Given the description of an element on the screen output the (x, y) to click on. 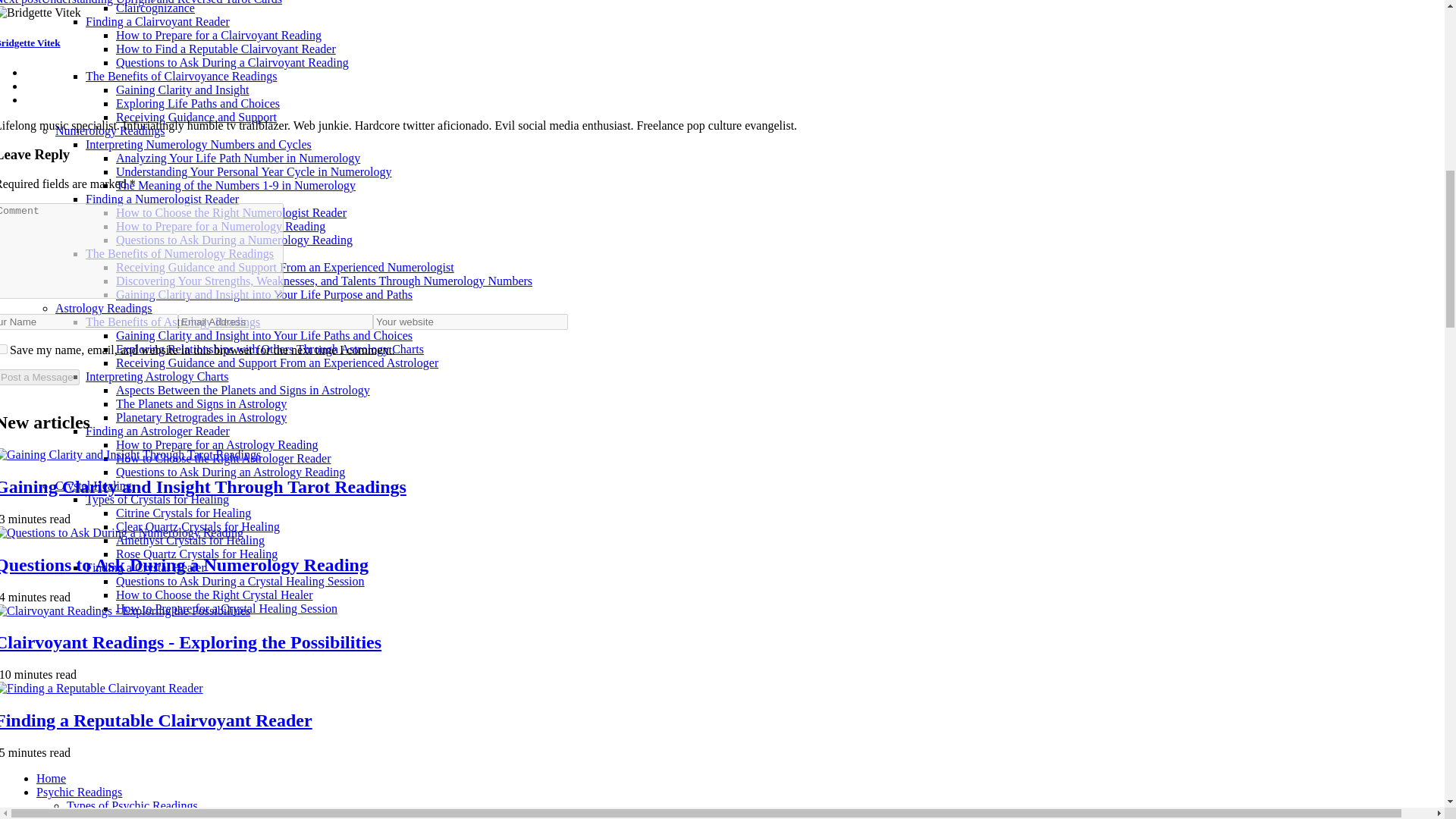
yes (3, 348)
Post a Message (40, 376)
